Given the description of an element on the screen output the (x, y) to click on. 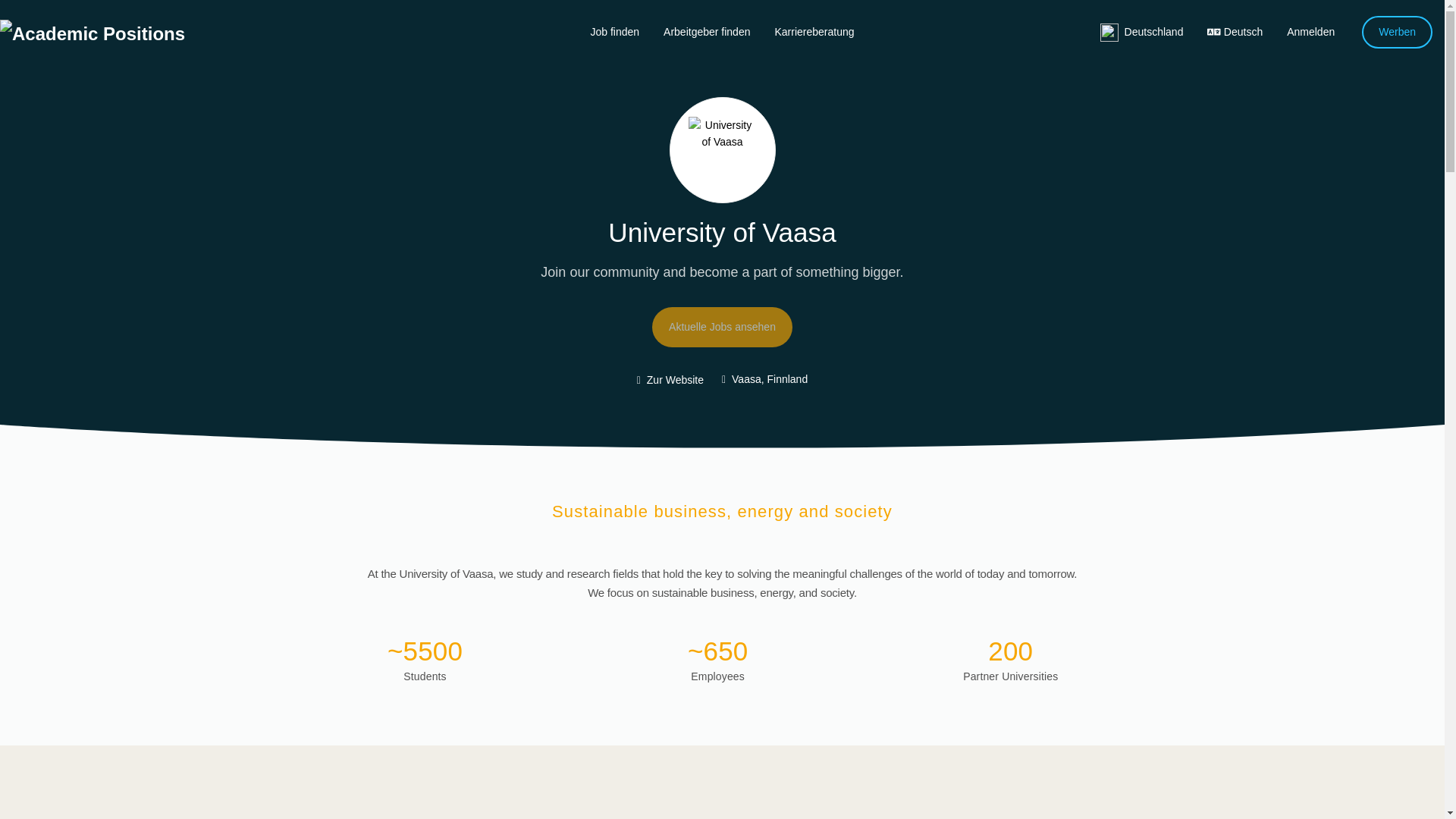
Arbeitgeber finden (705, 31)
Karriereberatung (813, 31)
Anmelden (1310, 31)
Job finden (614, 31)
